Given the description of an element on the screen output the (x, y) to click on. 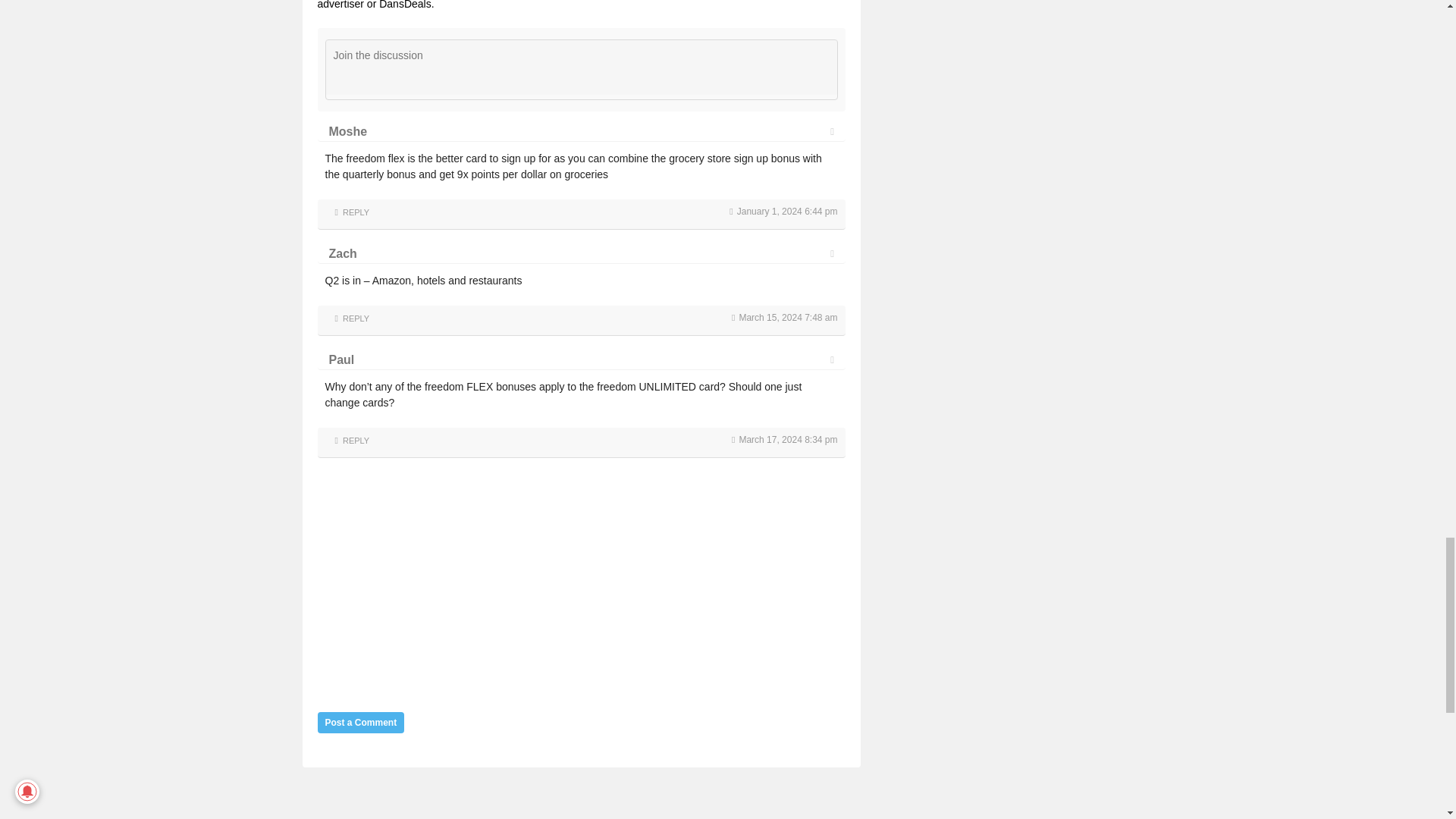
Post a Comment (360, 722)
